Given the description of an element on the screen output the (x, y) to click on. 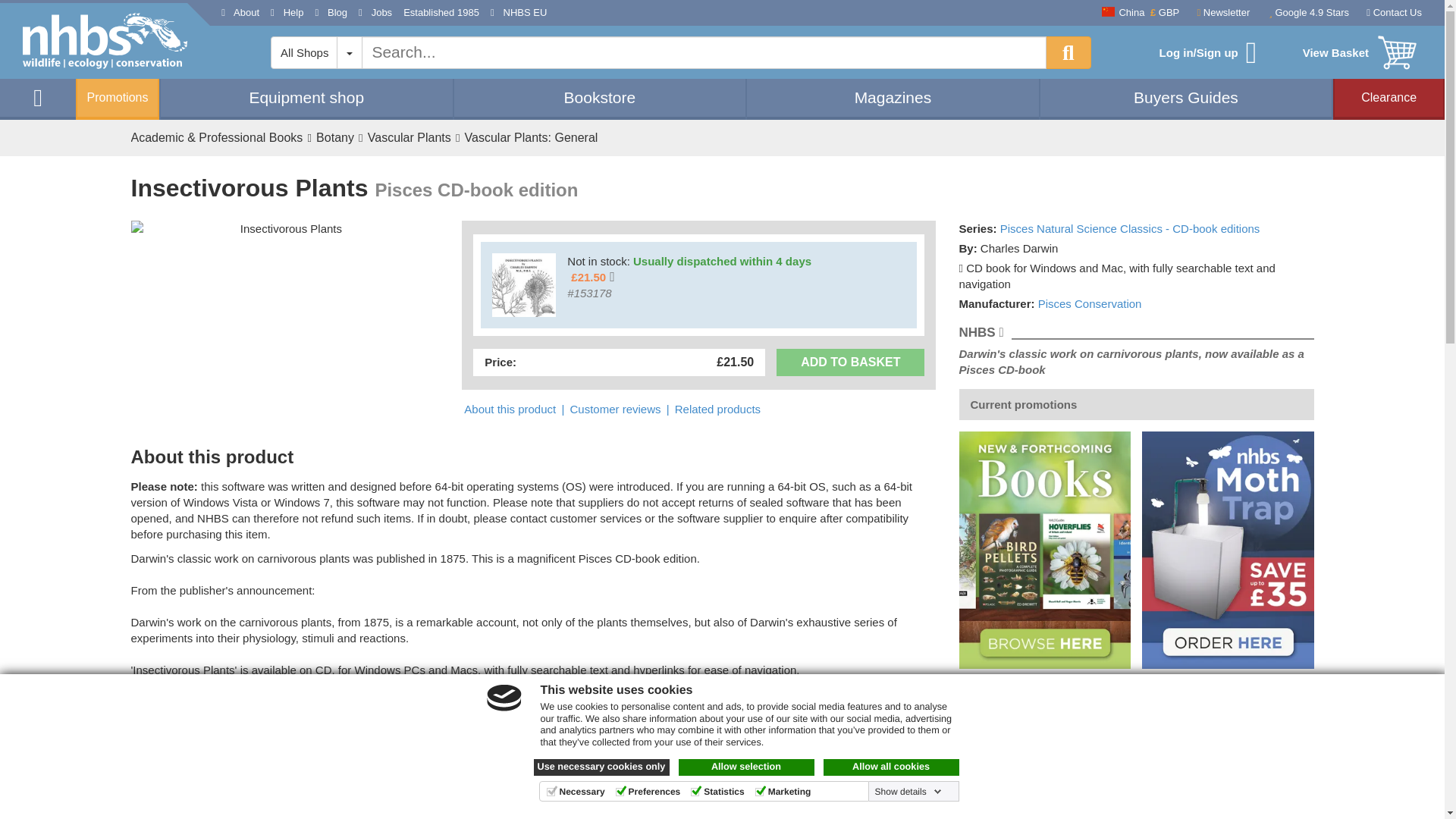
Allow selection (745, 767)
Use necessary cookies only (601, 767)
Show details (908, 791)
Allow all cookies (891, 767)
